Given the description of an element on the screen output the (x, y) to click on. 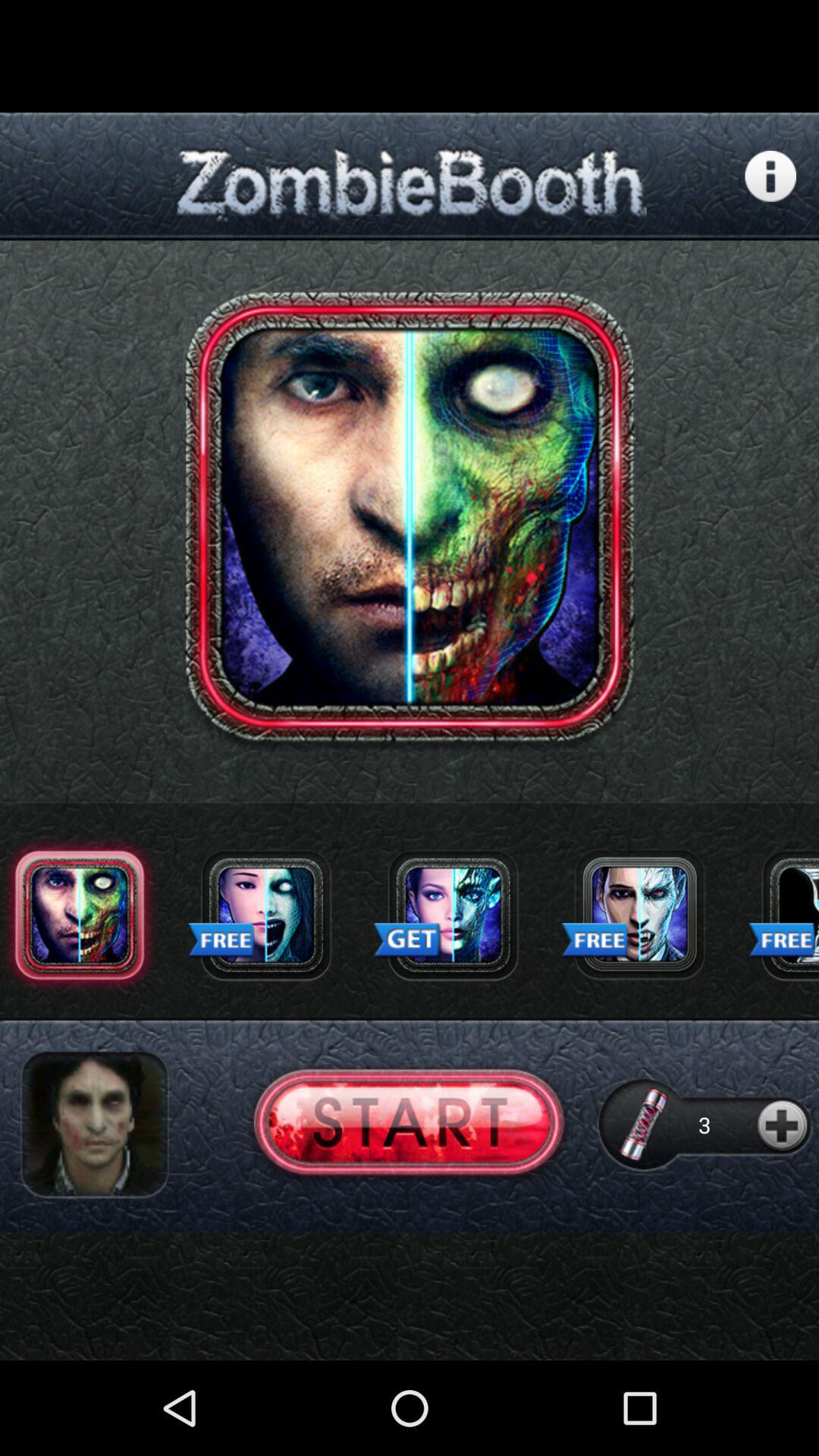
select start to begin (409, 1124)
